Given the description of an element on the screen output the (x, y) to click on. 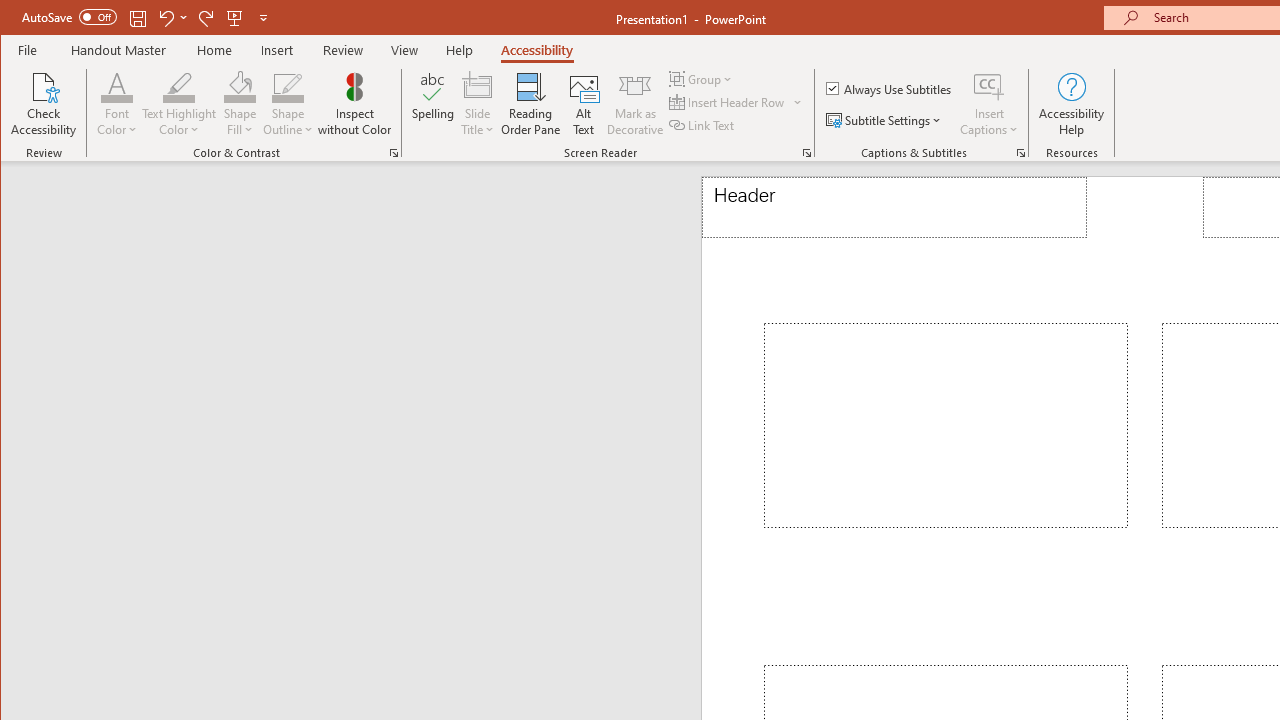
Accessibility Help (1071, 104)
Group (701, 78)
Insert Captions (989, 86)
Slide Title (477, 86)
Inspect without Color (355, 104)
Captions & Subtitles (1020, 152)
Slide Title (477, 104)
